Given the description of an element on the screen output the (x, y) to click on. 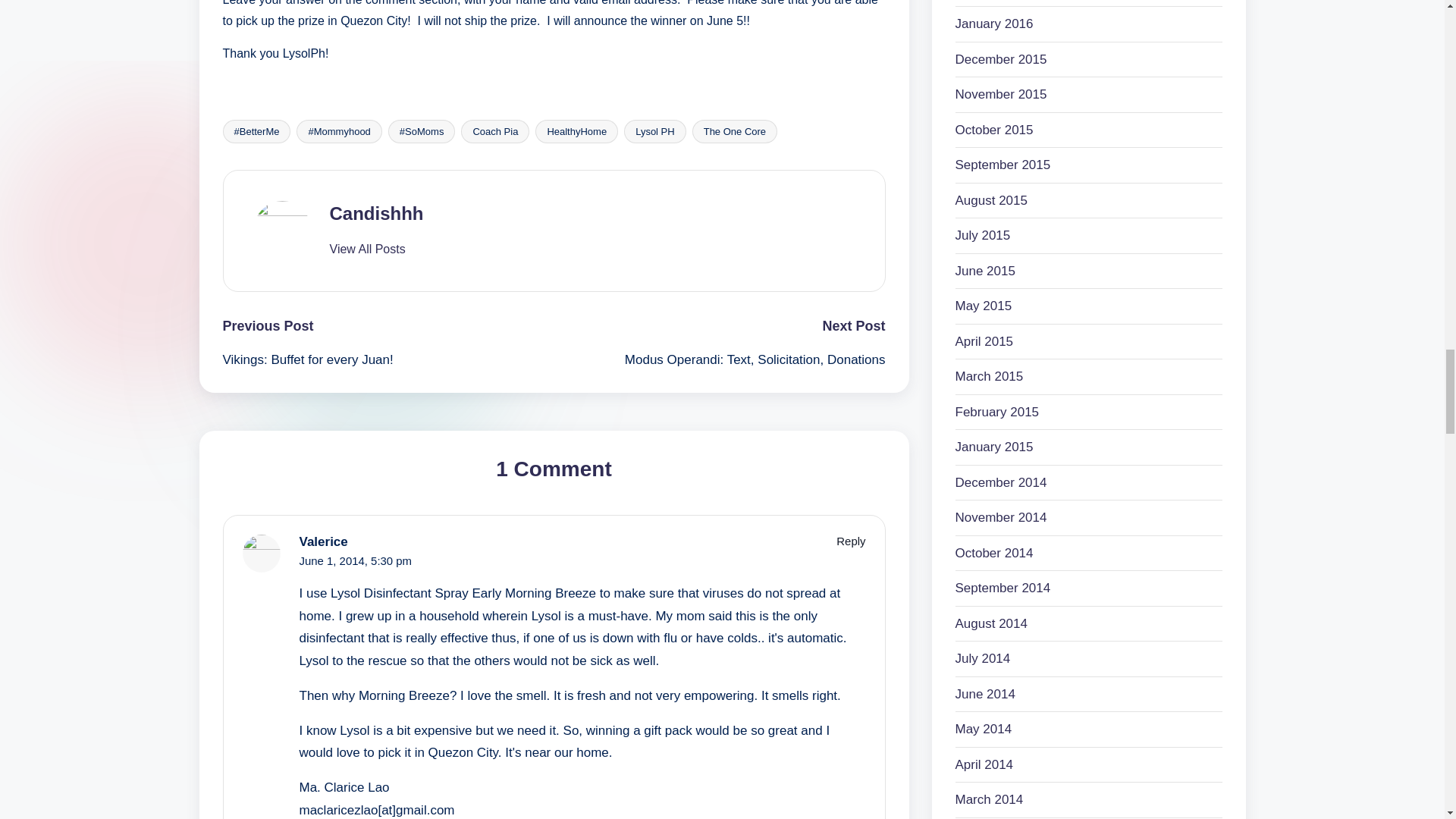
Coach Pia (495, 131)
Candishhh (376, 213)
Modus Operandi: Text, Solicitation, Donations (719, 360)
The One Core (735, 131)
Vikings: Buffet for every Juan! (388, 360)
Reply (849, 540)
Lysol PH (654, 131)
View All Posts (366, 249)
HealthyHome (576, 131)
